Given the description of an element on the screen output the (x, y) to click on. 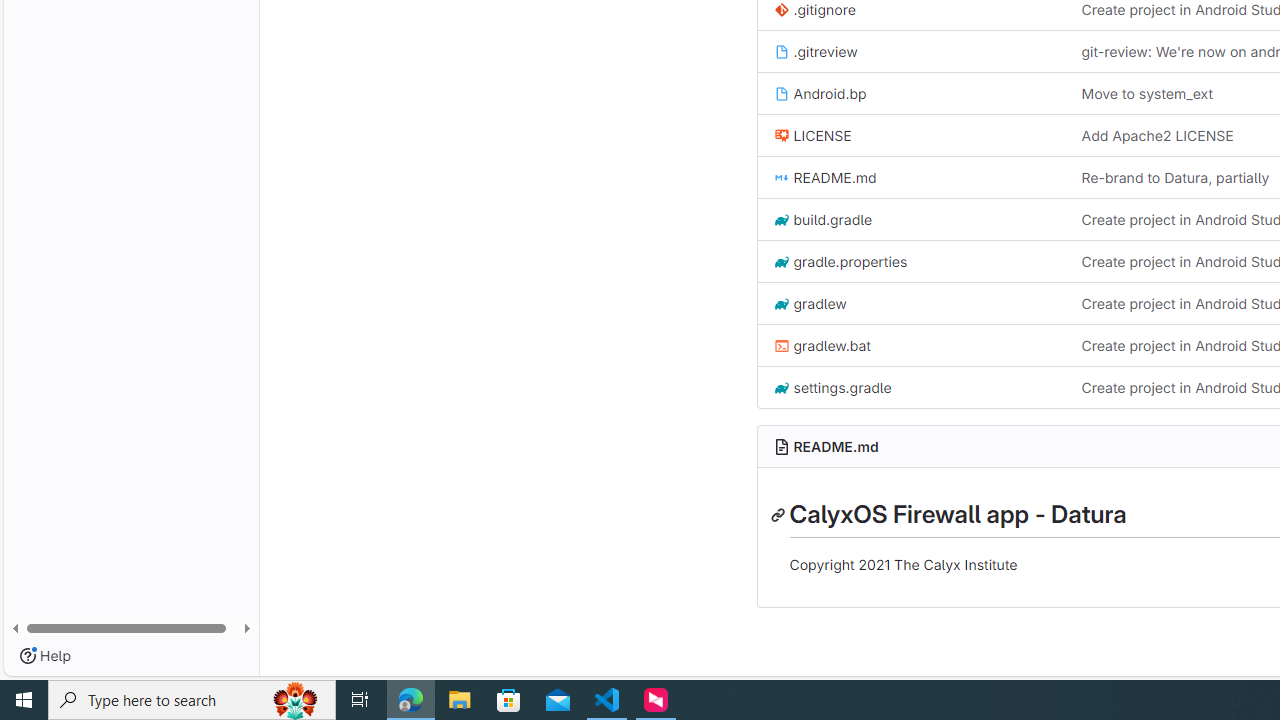
Add Apache2 LICENSE (1157, 135)
README.md (911, 177)
settings.gradle (832, 387)
.gitreview (911, 51)
gradle.properties (911, 260)
settings.gradle (911, 386)
.gitreview (815, 51)
